Given the description of an element on the screen output the (x, y) to click on. 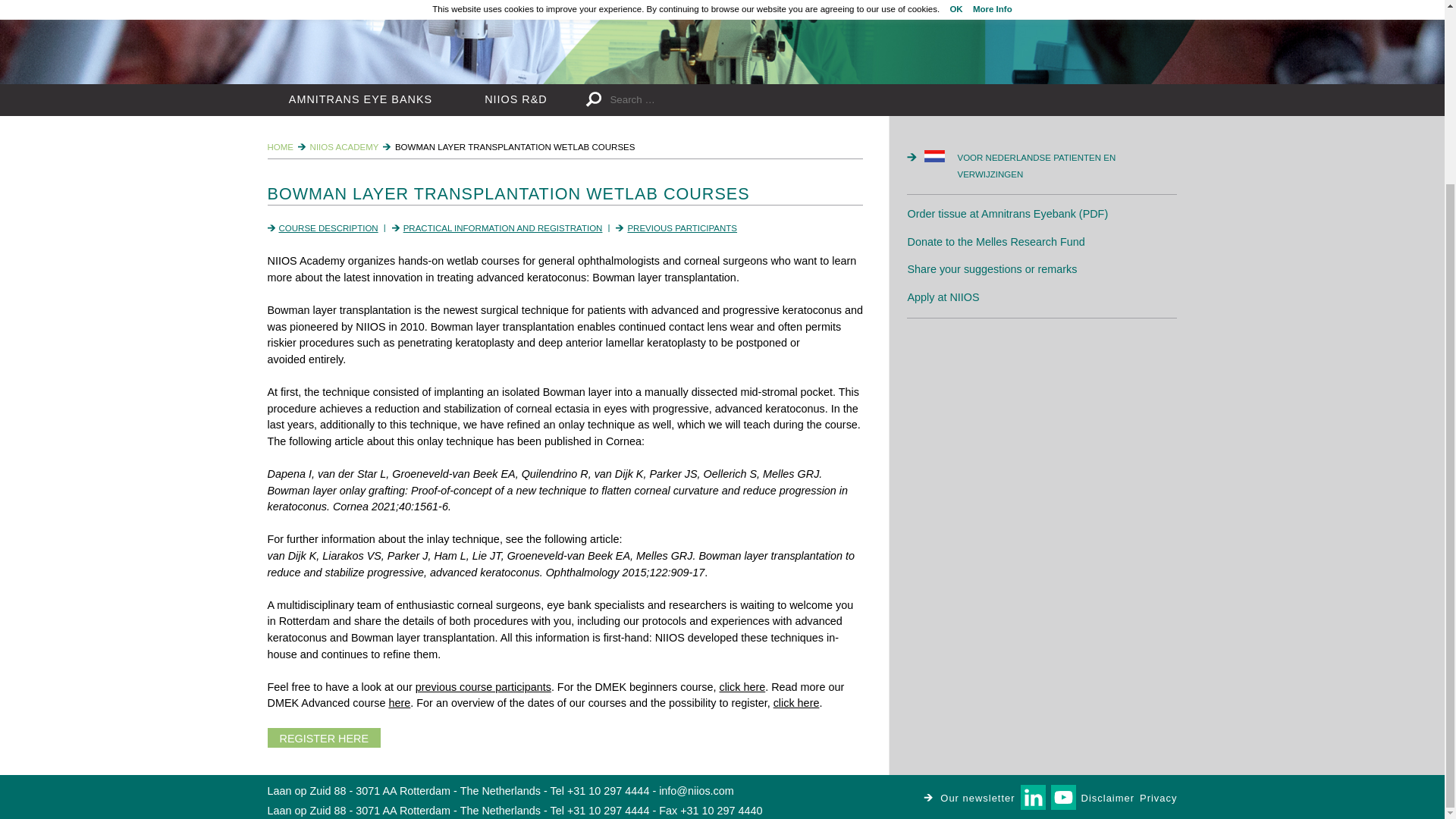
REGISTER HERE (323, 737)
VOOR NEDERLANDSE PATIENTEN EN VERWIJZINGEN (1050, 165)
COURSE DESCRIPTION (328, 227)
Share your suggestions or remarks (992, 268)
previous course participants (482, 686)
NIIOS ACADEMY (344, 146)
PREVIOUS PARTICIPANTS (681, 227)
Search (596, 100)
Search for: (730, 100)
HOME (280, 146)
AMNITRANS EYE BANKS (359, 100)
Search (596, 100)
click here (742, 686)
PRACTICAL INFORMATION AND REGISTRATION (502, 227)
Donate to the Melles Research Fund (995, 241)
